Given the description of an element on the screen output the (x, y) to click on. 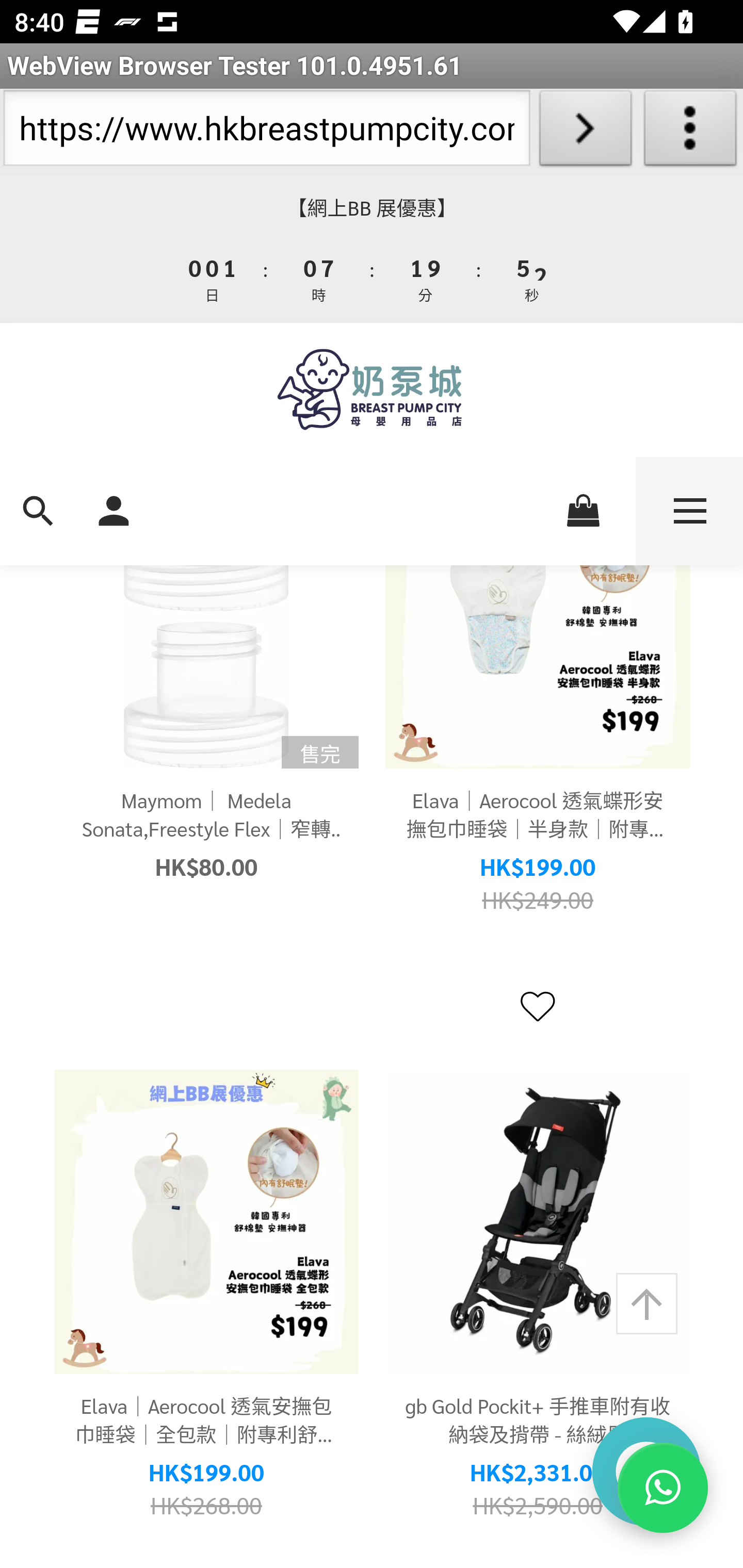
https://www.hkbreastpumpcity.com/ (266, 132)
Load URL (585, 132)
About WebView (690, 132)
【網上BB 展優惠】 (371, 208)
594x (371, 390)
Elava｜Aerocool 透氣蝶形安撫包巾睡袋｜半身款｜附專利舒眠墊｜解放雙手 (537, 617)
sign_in (113, 508)
Elava｜Aerocool 透氣蝶形安撫包巾睡袋｜半身款｜附專利舒眠墊｜解放雙手 (537, 816)
HK$80.00 (206, 867)
HK$199.00 HK$249.00 (537, 883)
HK$199.00 (537, 867)
HK$249.00 (537, 900)
 (537, 1007)
Elava｜Aerocool 透氣安撫包巾睡袋｜全包款｜附專利舒眠墊｜解放雙手 (206, 1222)
gb Gold Pockit+ 手推車附有收納袋及揹帶 - 絲絨黑 (537, 1222)
Elava｜Aerocool 透氣安撫包巾睡袋｜全包款｜附專利舒眠墊｜解放雙手 (206, 1421)
gb Gold Pockit+ 手推車附有收納袋及揹帶 - 絲絨黑 (537, 1421)
HK$199.00 (206, 1473)
HK$2,331.00 (537, 1473)
HK$268.00 (206, 1506)
HK$2,590.00 (537, 1506)
